Given the description of an element on the screen output the (x, y) to click on. 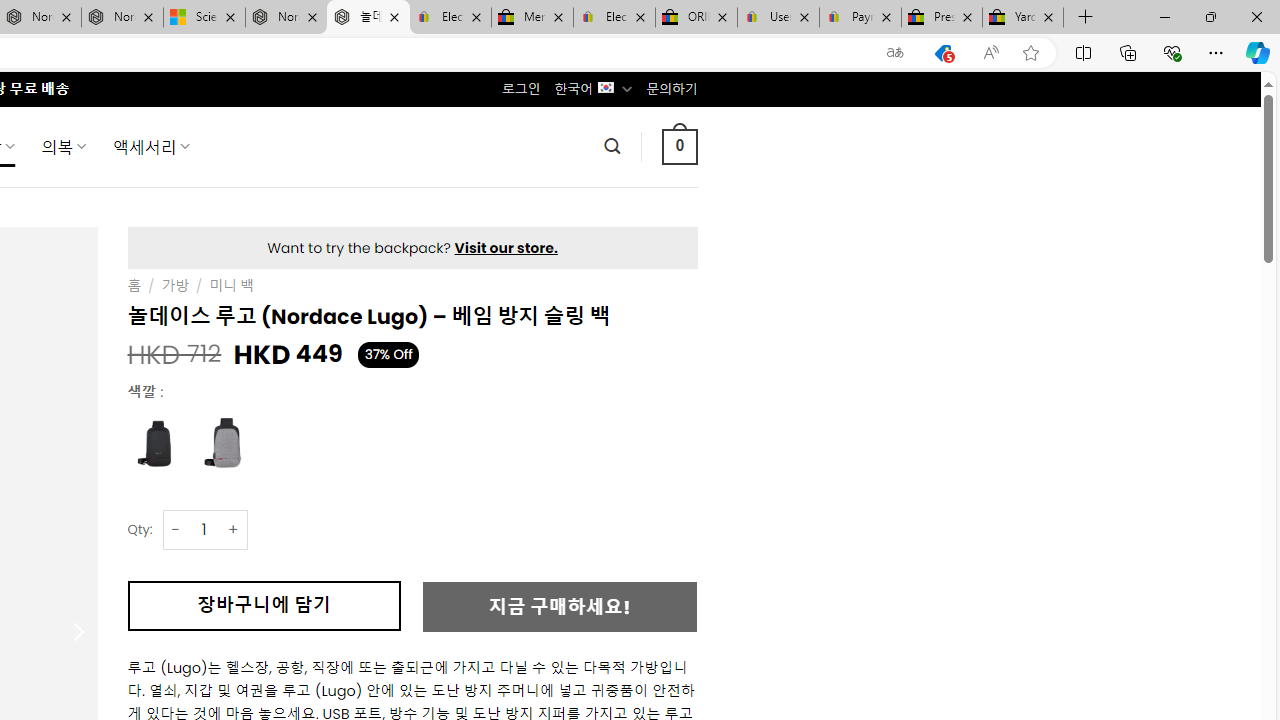
+ (234, 529)
